Given the description of an element on the screen output the (x, y) to click on. 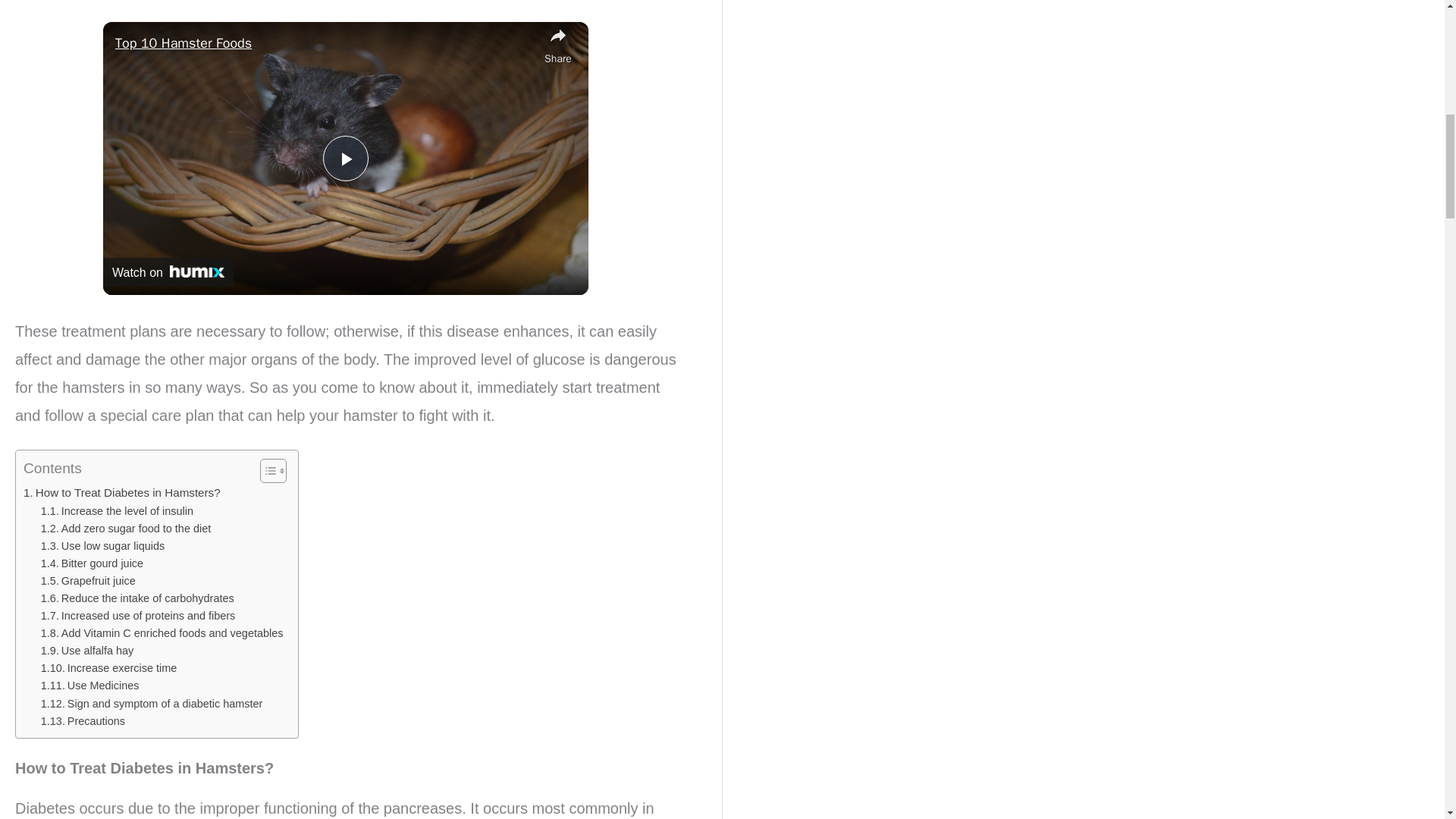
Share (558, 45)
Bitter gourd juice (91, 563)
Play Video (345, 157)
Watch on (167, 271)
Increased use of proteins and fibers (137, 615)
Use low sugar liquids (102, 546)
share (558, 45)
Add Vitamin C enriched foods and vegetables (161, 633)
How to Treat Diabetes in Hamsters? (122, 493)
Grapefruit juice (87, 580)
Grapefruit juice (87, 580)
Bitter gourd juice (91, 563)
Top 10 Hamster Foods (326, 43)
Reduce the intake of carbohydrates (137, 598)
Increase the level of insulin (116, 510)
